Given the description of an element on the screen output the (x, y) to click on. 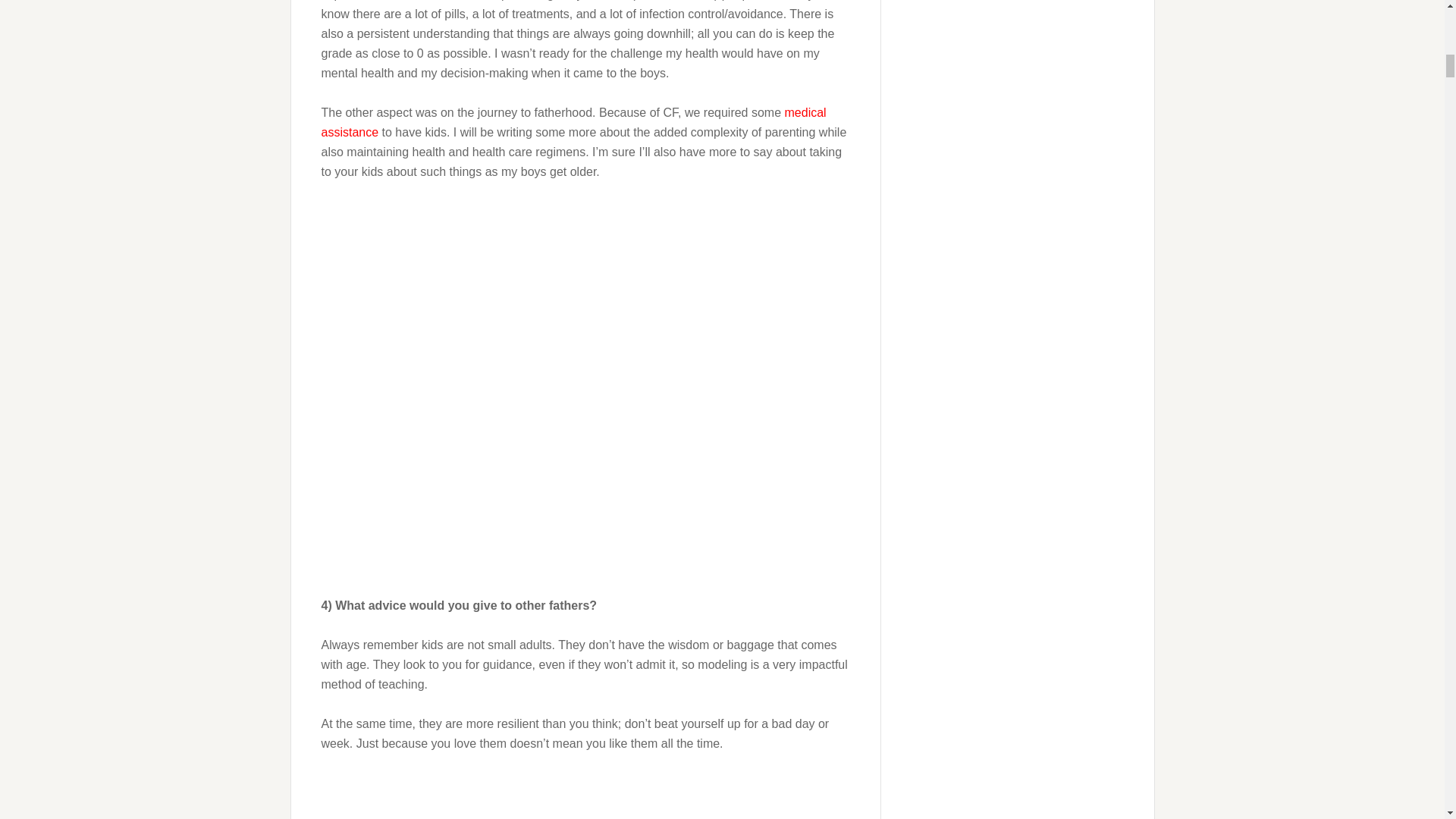
medical assistance (574, 122)
